Given the description of an element on the screen output the (x, y) to click on. 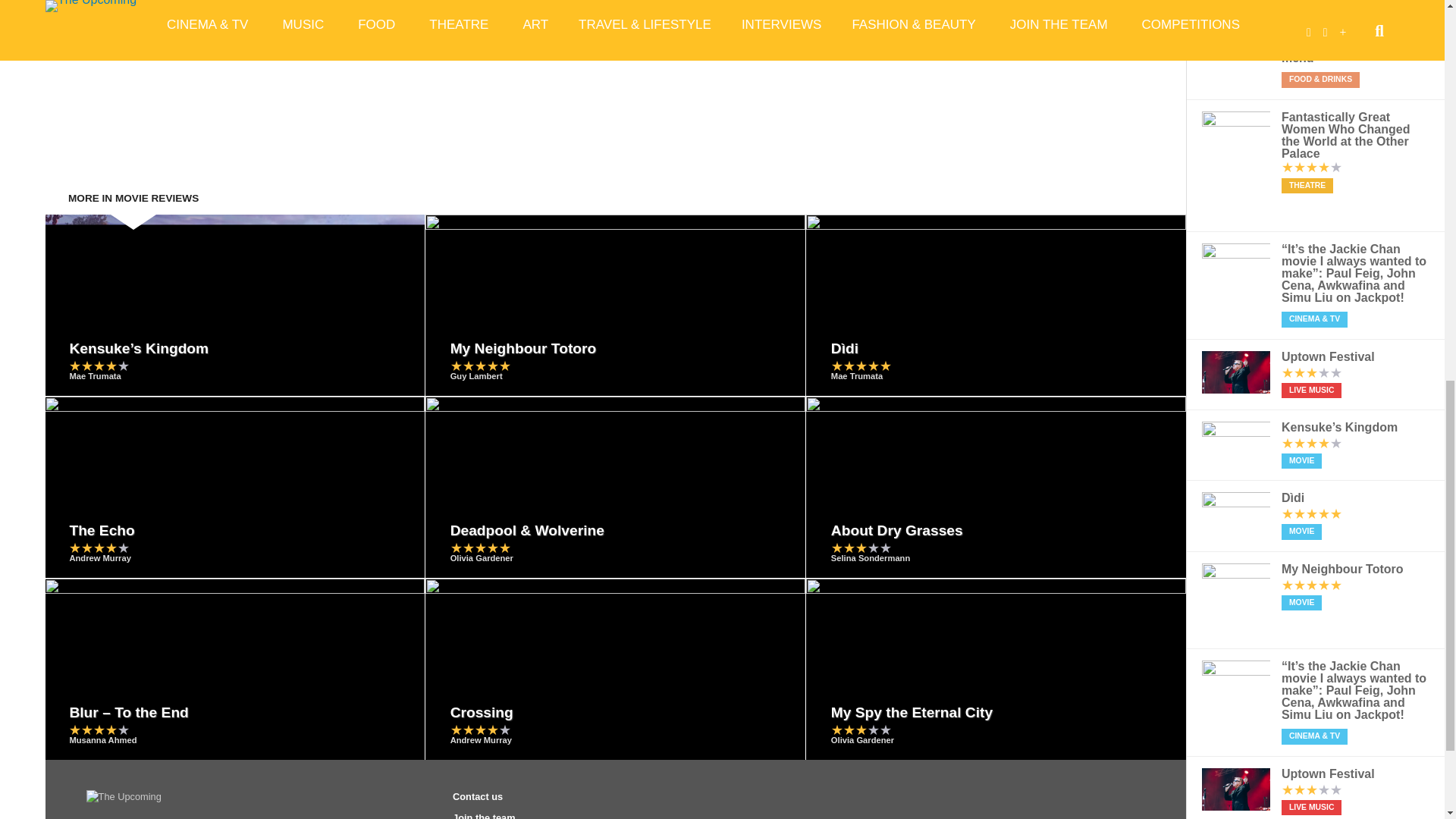
4 out of 5 stars (98, 365)
